Given the description of an element on the screen output the (x, y) to click on. 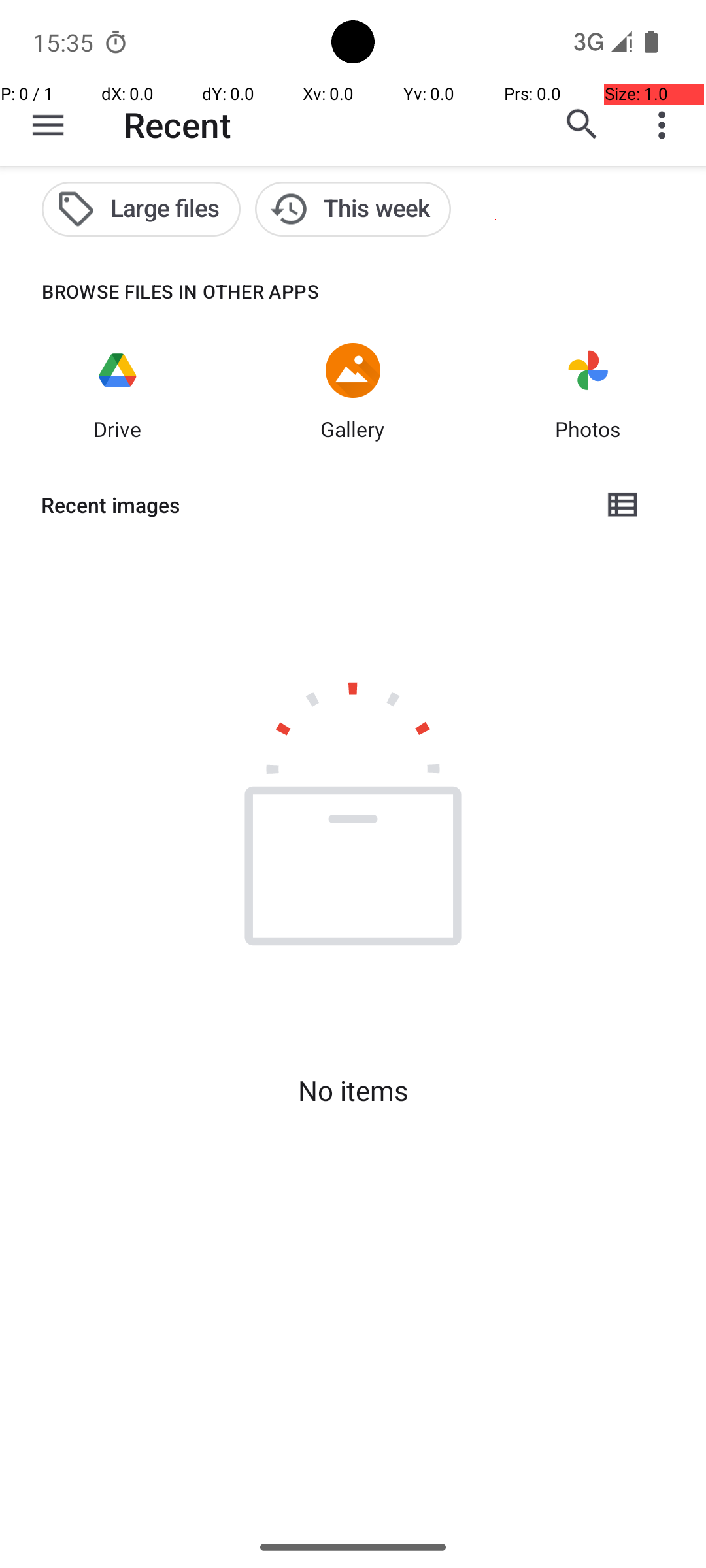
Recent images Element type: android.widget.TextView (311, 504)
